Given the description of an element on the screen output the (x, y) to click on. 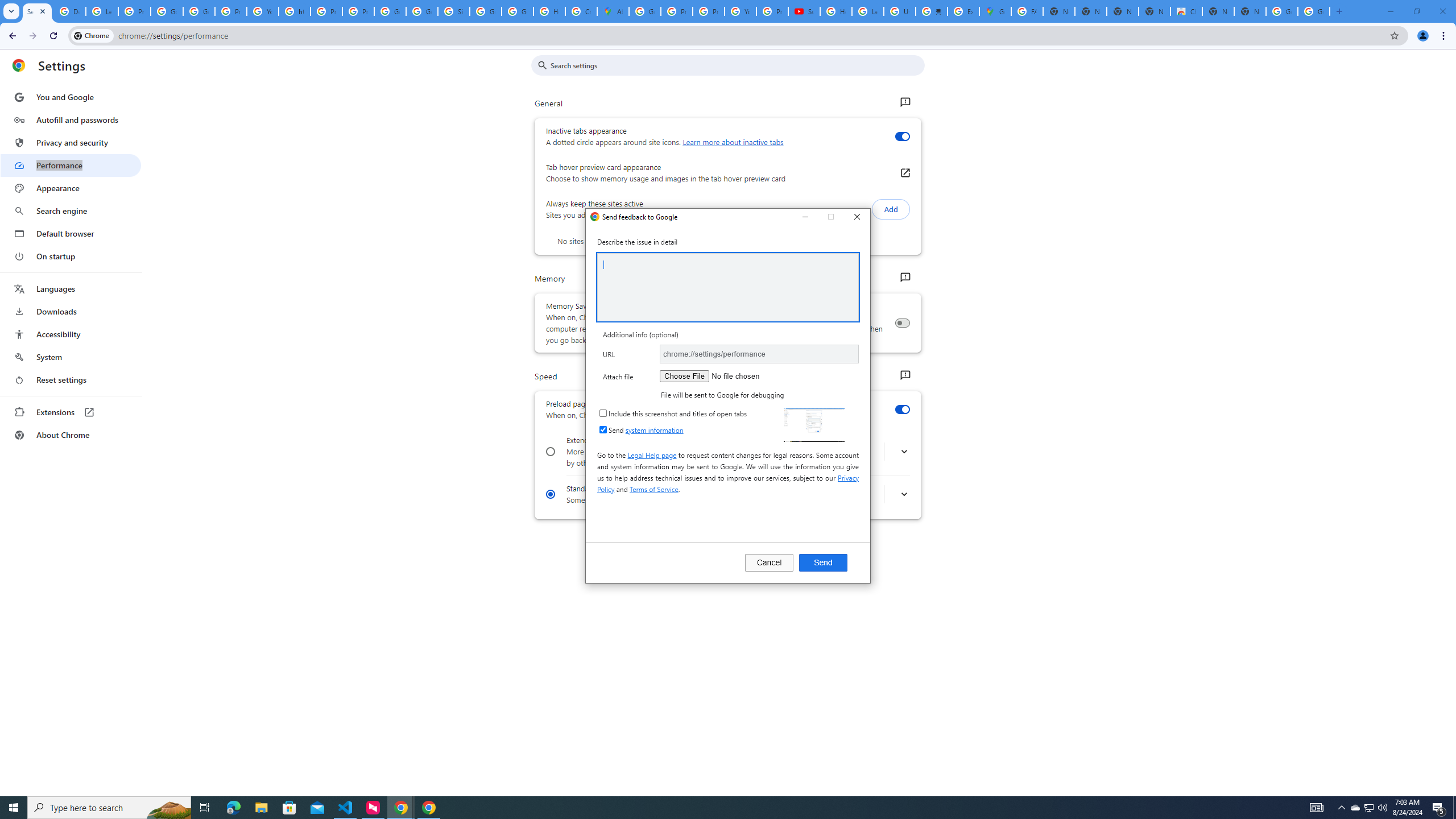
Running applications (717, 807)
YouTube (262, 11)
Memory (904, 277)
Reset settings (70, 379)
Subscriptions - YouTube (804, 11)
Explore new street-level details - Google Maps Help (963, 11)
Include this screenshot and titles of open tabs (603, 412)
Chrome Web Store (1185, 11)
How Chrome protects your passwords - Google Chrome Help (836, 11)
Task View (204, 807)
Privacy Help Center - Policies Help (676, 11)
 More info about turning on standard preloading (903, 494)
